Given the description of an element on the screen output the (x, y) to click on. 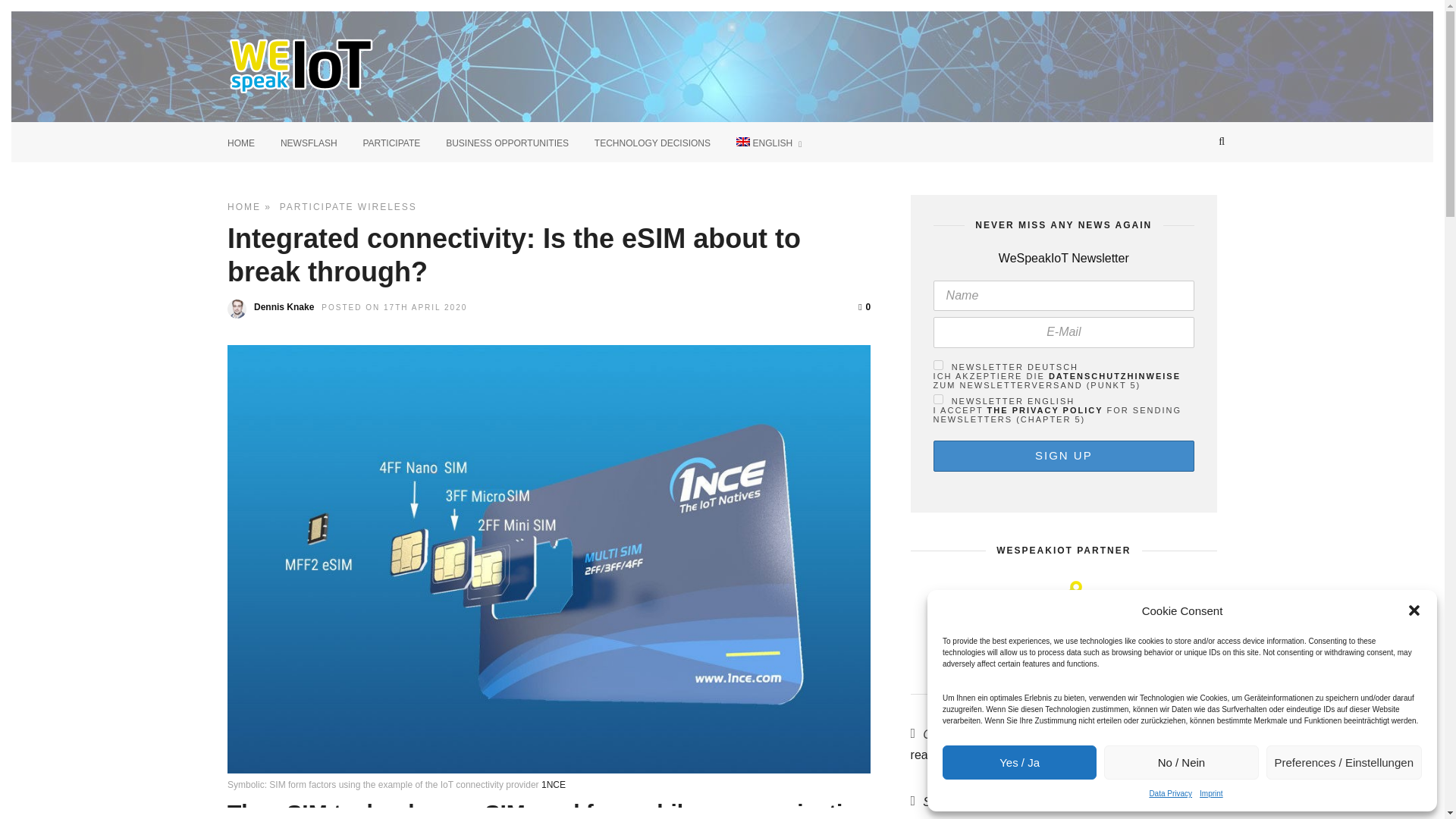
 PARTICIPATE (314, 206)
ENGLISH (768, 142)
PARTICIPATE (390, 142)
TECHNOLOGY DECISIONS (652, 142)
WIRELESS (387, 206)
BUSINESS OPPORTUNITIES (506, 142)
Imprint (1211, 793)
c9daa1d230 (938, 398)
0 (864, 307)
Sign up (1063, 455)
